Given the description of an element on the screen output the (x, y) to click on. 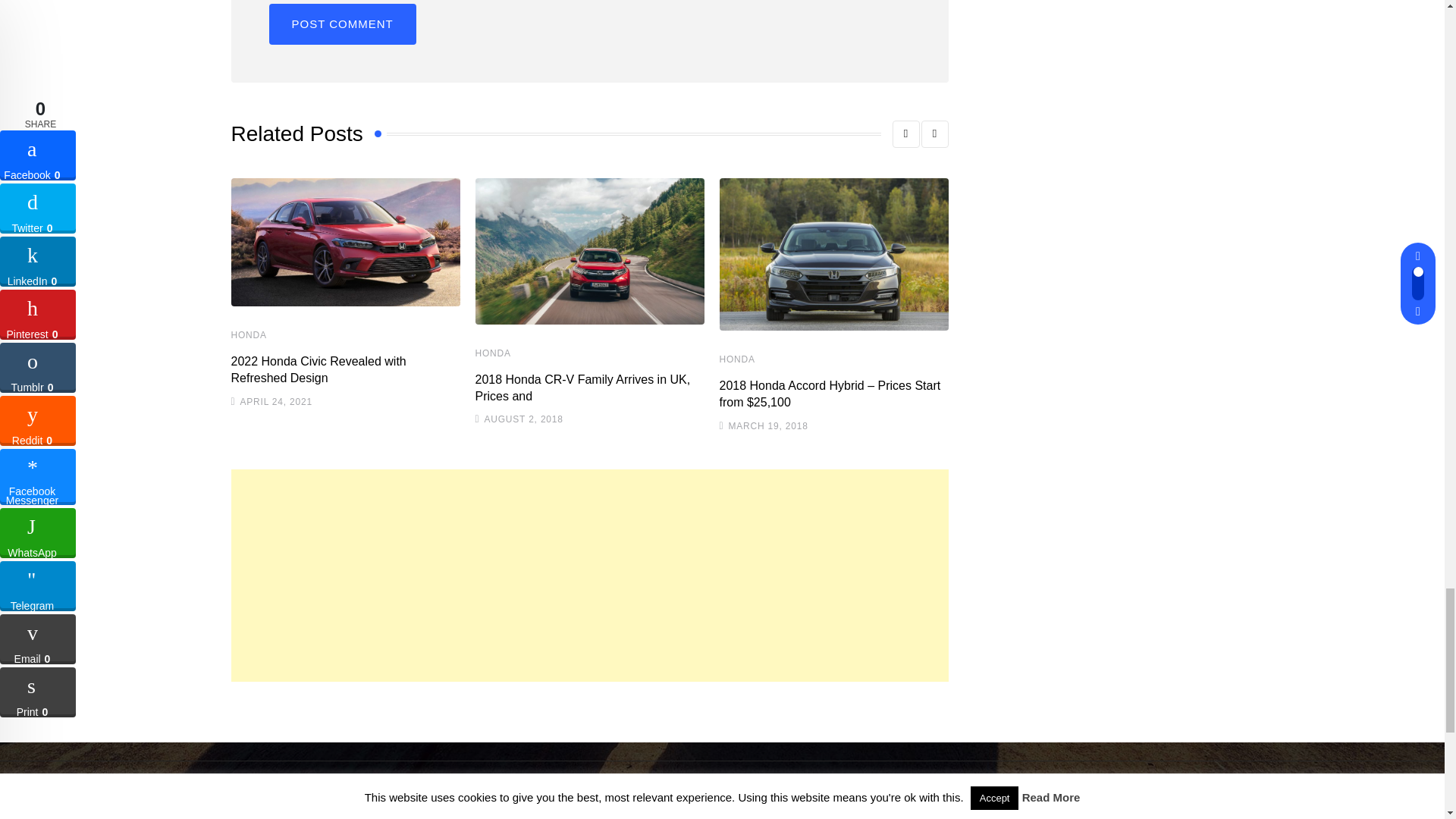
Post Comment (340, 24)
